Given the description of an element on the screen output the (x, y) to click on. 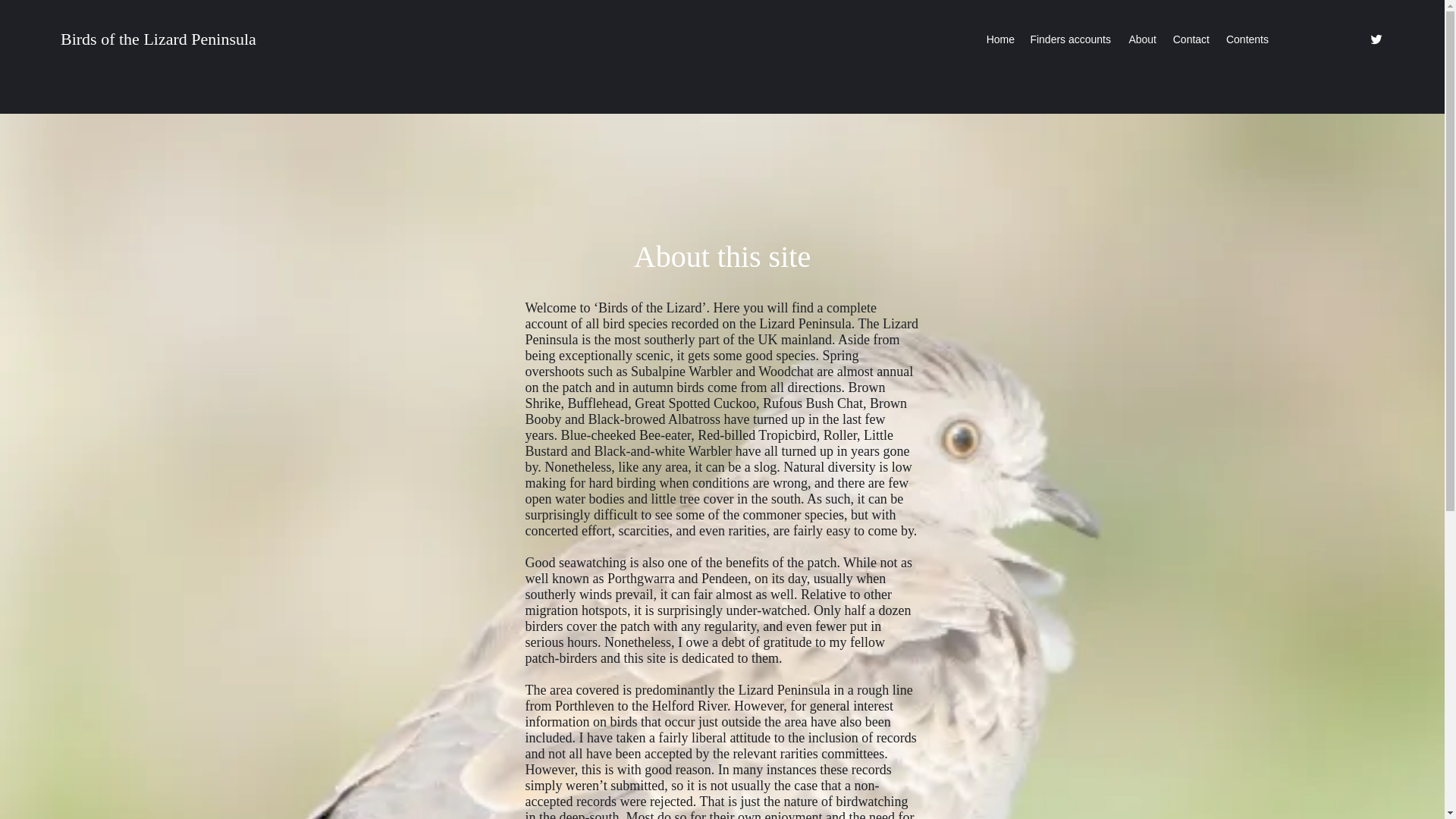
About (1140, 38)
Contents (1246, 38)
Finders accounts (1070, 38)
Home (1000, 38)
Birds of the Lizard Peninsula (158, 38)
Contact (1190, 38)
